Given the description of an element on the screen output the (x, y) to click on. 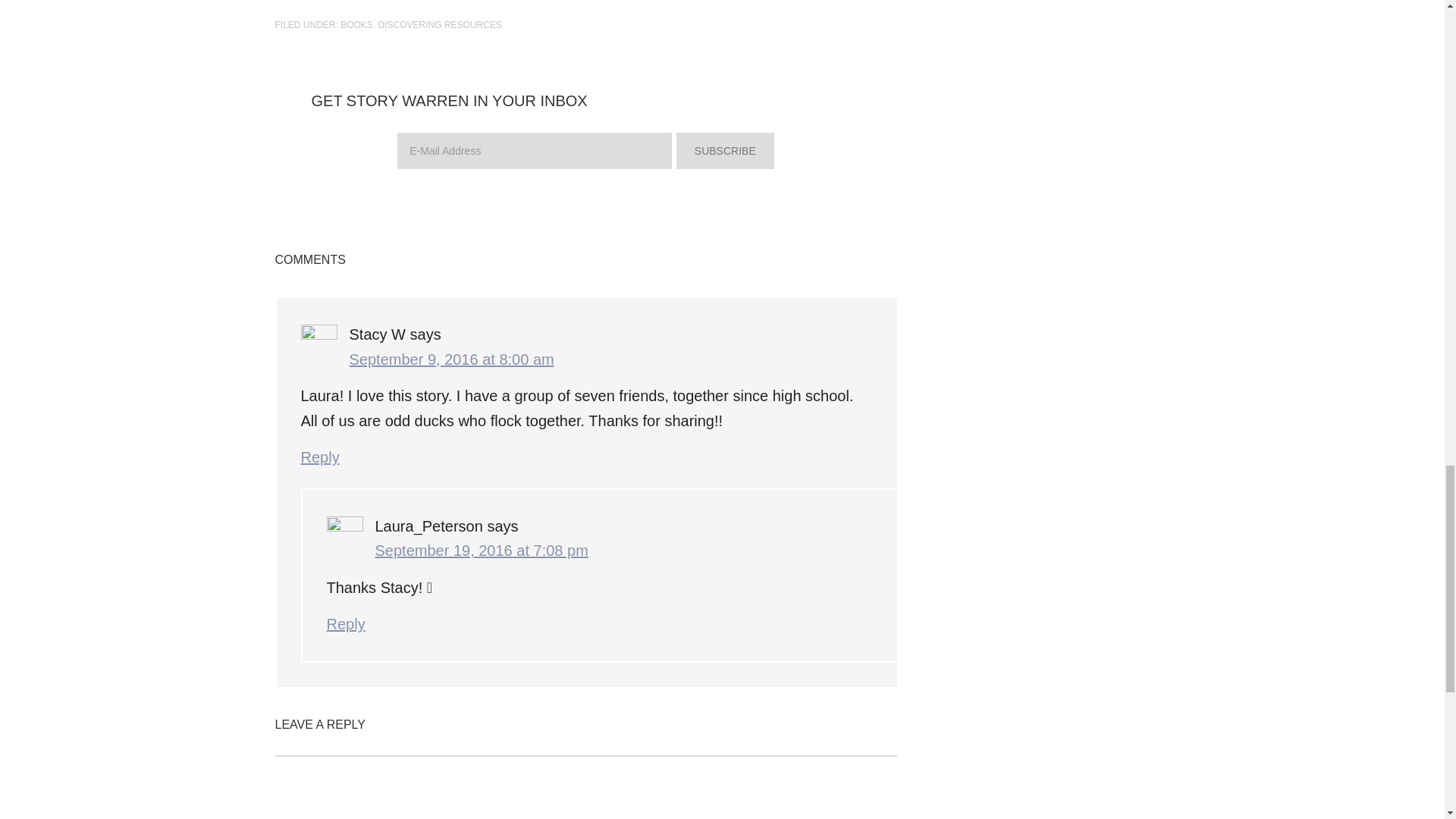
September 9, 2016 at 8:00 am (451, 359)
DISCOVERING RESOURCES (440, 24)
Subscribe (725, 150)
BOOKS (356, 24)
Comment Form (585, 787)
Subscribe (725, 150)
